Given the description of an element on the screen output the (x, y) to click on. 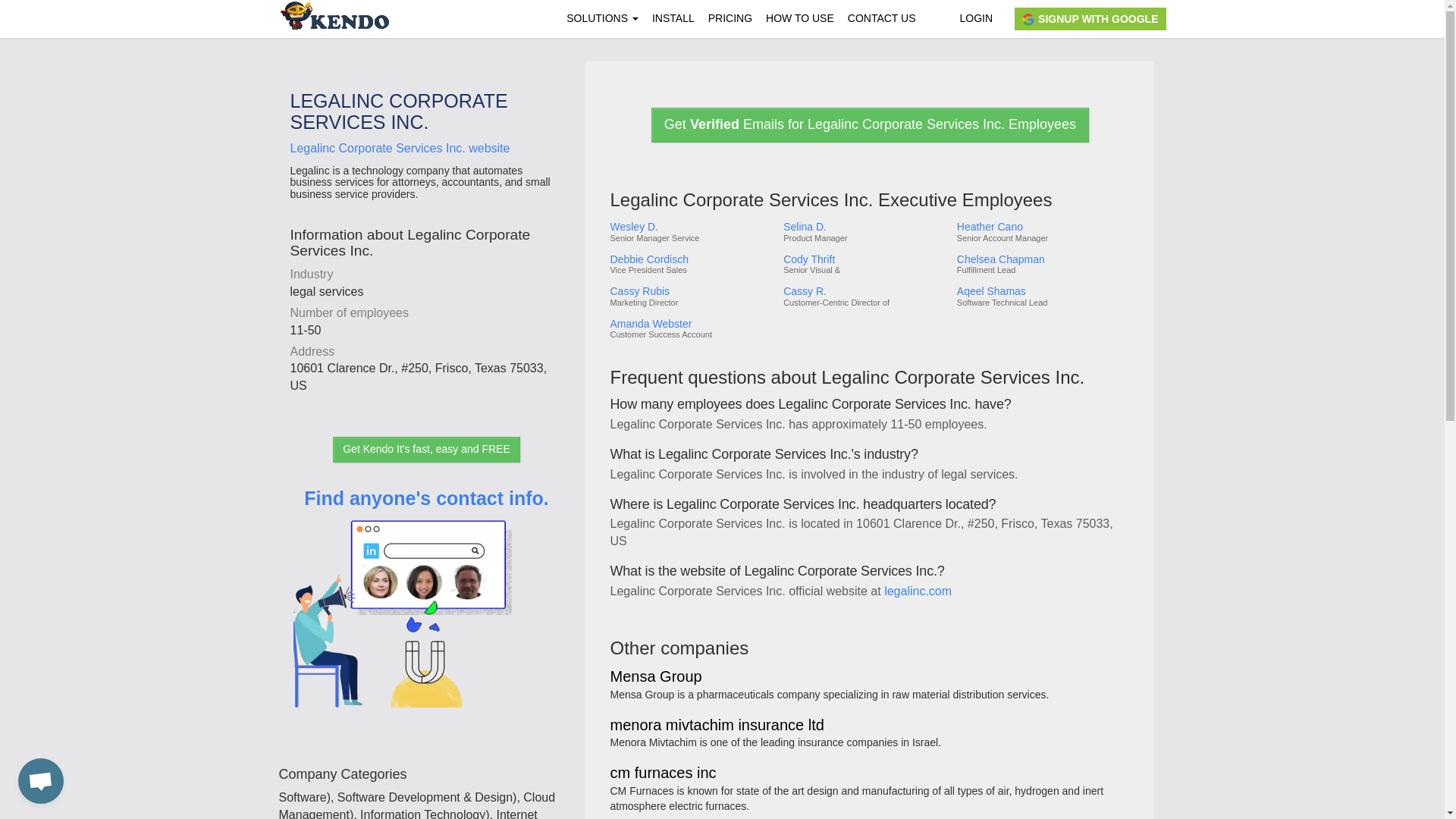
cm furnaces inc (663, 773)
Mensa Group (655, 676)
Aqeel Shamas (1041, 291)
legalinc.com (917, 590)
Cassy R. (863, 291)
Selina D. (863, 226)
Wesley D. (690, 226)
Debbie Cordisch (690, 259)
Cassy Rubis (690, 291)
CONTACT US (882, 18)
Cody Thrift (863, 259)
HOW TO USE (799, 18)
LOGIN (975, 18)
menora mivtachim insurance ltd (717, 725)
